Given the description of an element on the screen output the (x, y) to click on. 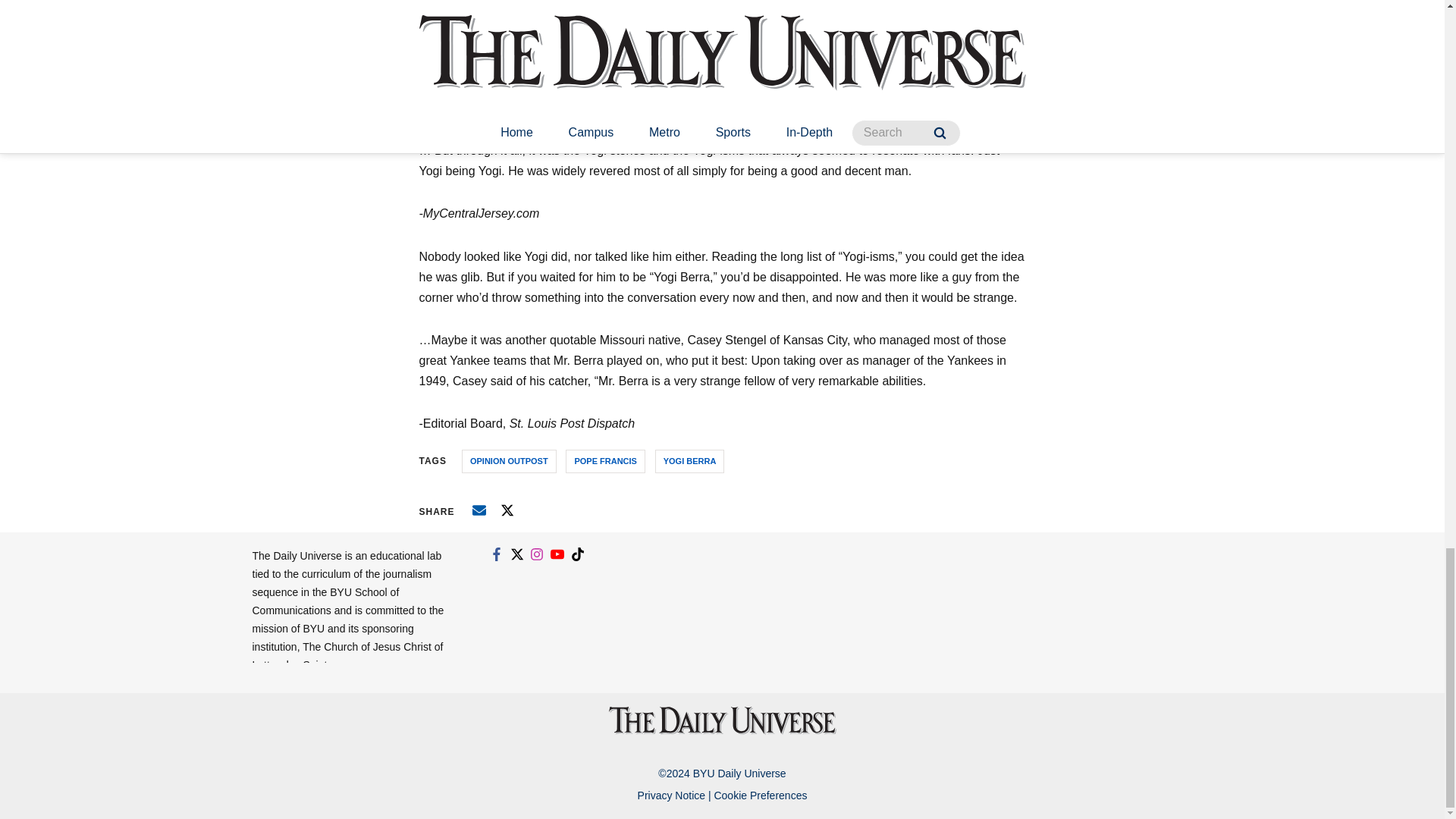
POPE FRANCIS (605, 461)
Link to facebook (495, 554)
Link to tiktok (577, 554)
OPINION OUTPOST (508, 461)
YOGI BERRA (690, 461)
Privacy Notice (670, 795)
Cookie Preferences (759, 795)
Link to youtube (557, 554)
Email (478, 509)
Link to instagram (536, 554)
